Given the description of an element on the screen output the (x, y) to click on. 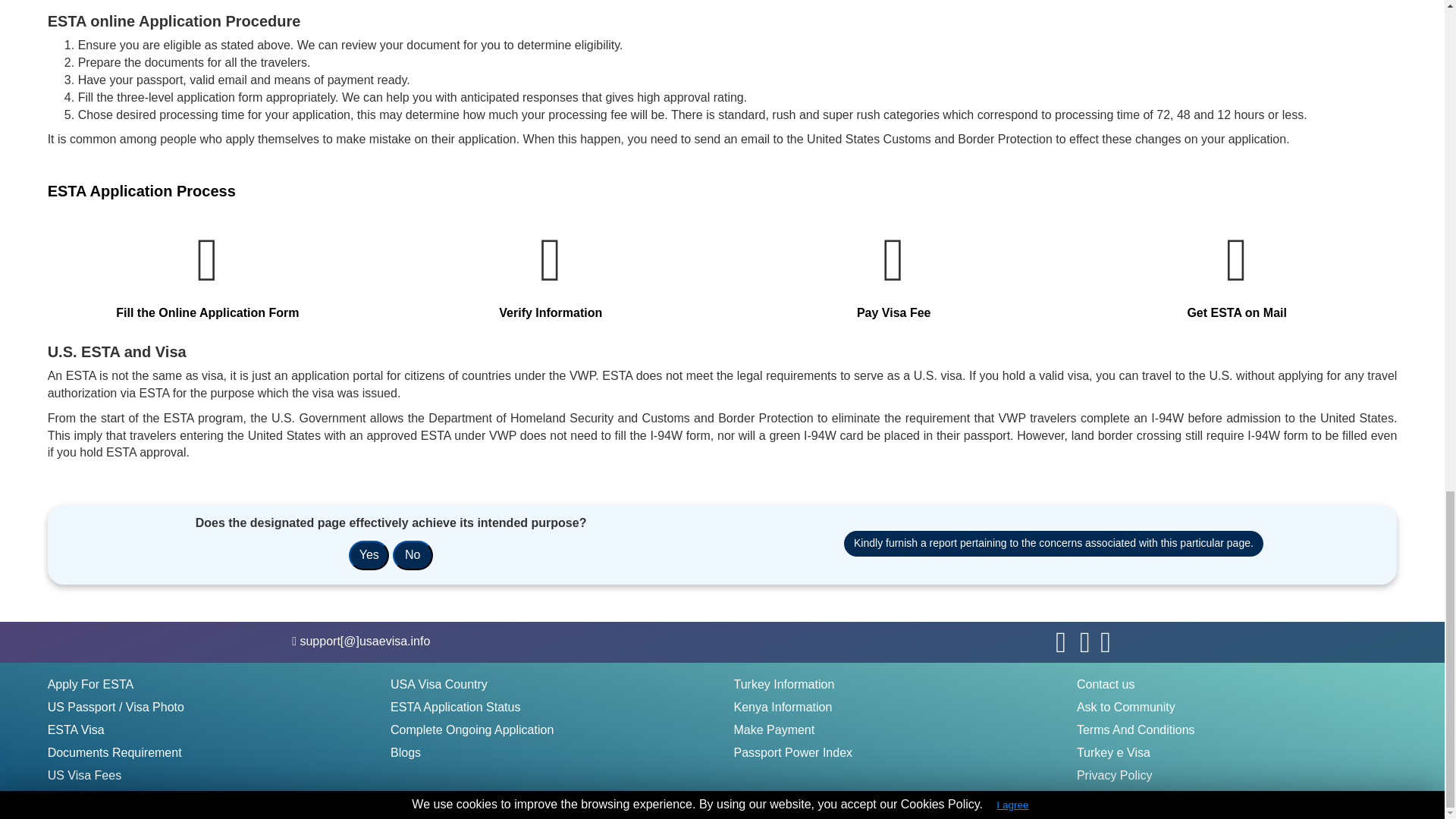
ESTA Visa (76, 730)
Kenya Information (782, 707)
ESTA Application Status (454, 707)
Privacy Policy (1115, 775)
Turkey e Visa (1113, 753)
Complete Ongoing Application (471, 730)
Apply For ESTA (90, 684)
Blogs (405, 753)
USA Visa Country (438, 684)
Blogs (405, 753)
